Given the description of an element on the screen output the (x, y) to click on. 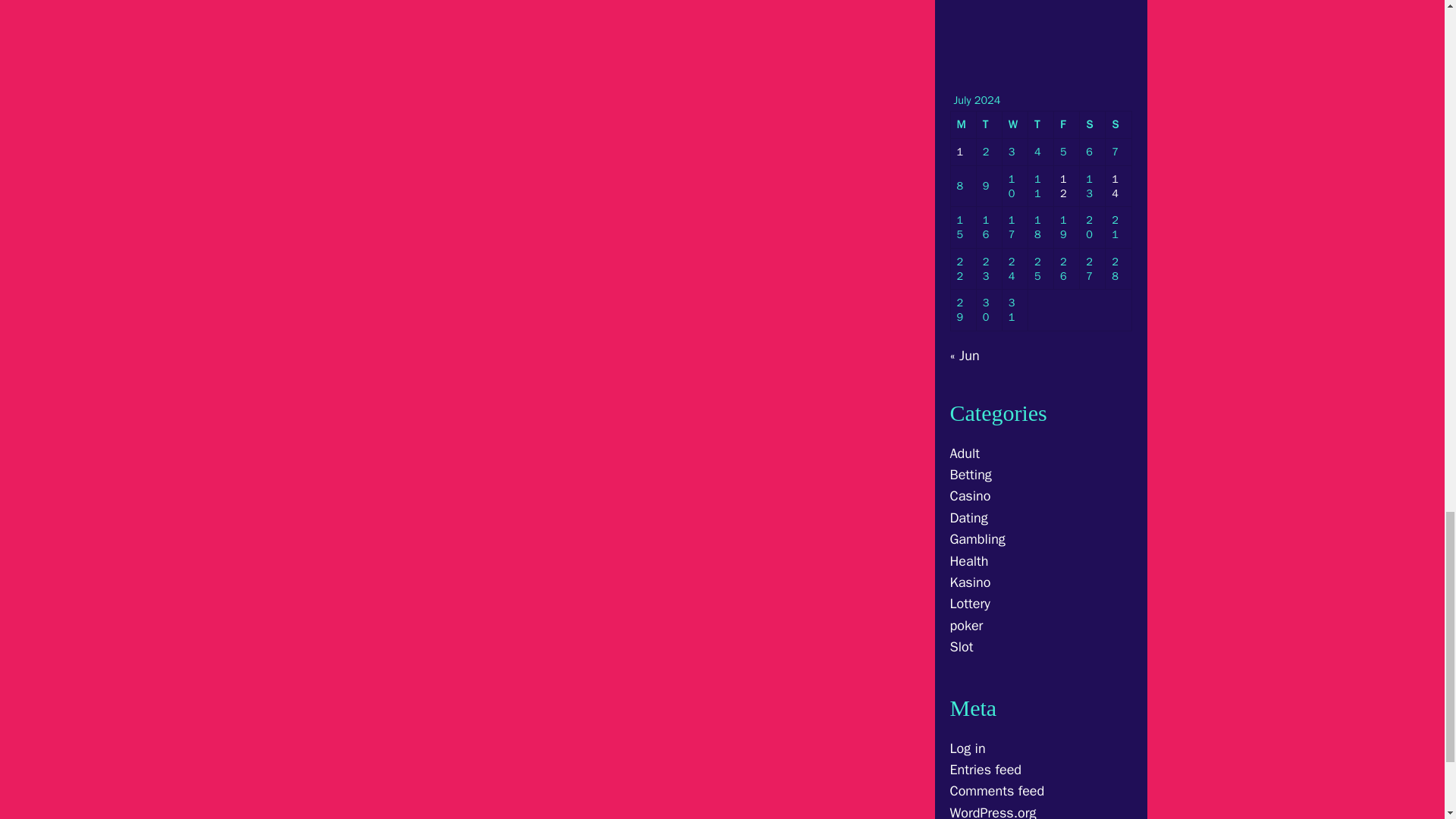
Monday (963, 124)
Thursday (1040, 124)
Tuesday (989, 124)
Wednesday (1015, 124)
Friday (1067, 124)
